Given the description of an element on the screen output the (x, y) to click on. 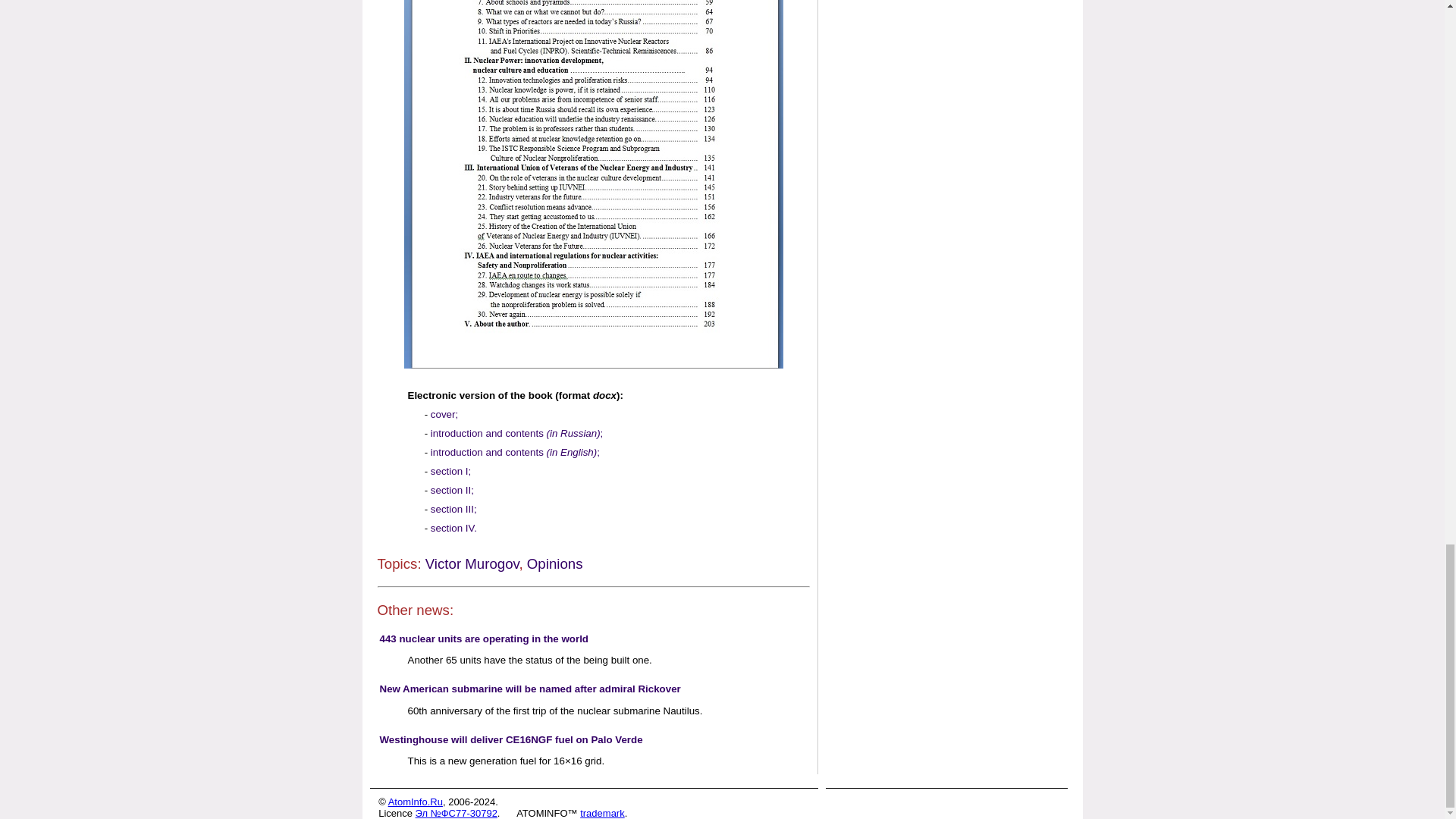
Victor Murogov (472, 563)
Opinions (555, 563)
Westinghouse will deliver CE16NGF fuel on Palo Verde (510, 739)
section II; (452, 490)
section I; (450, 471)
443 nuclear units are operating in the world (483, 638)
cover; (444, 414)
section III; (453, 509)
New American submarine will be named after admiral Rickover (528, 688)
section IV. (453, 527)
